Given the description of an element on the screen output the (x, y) to click on. 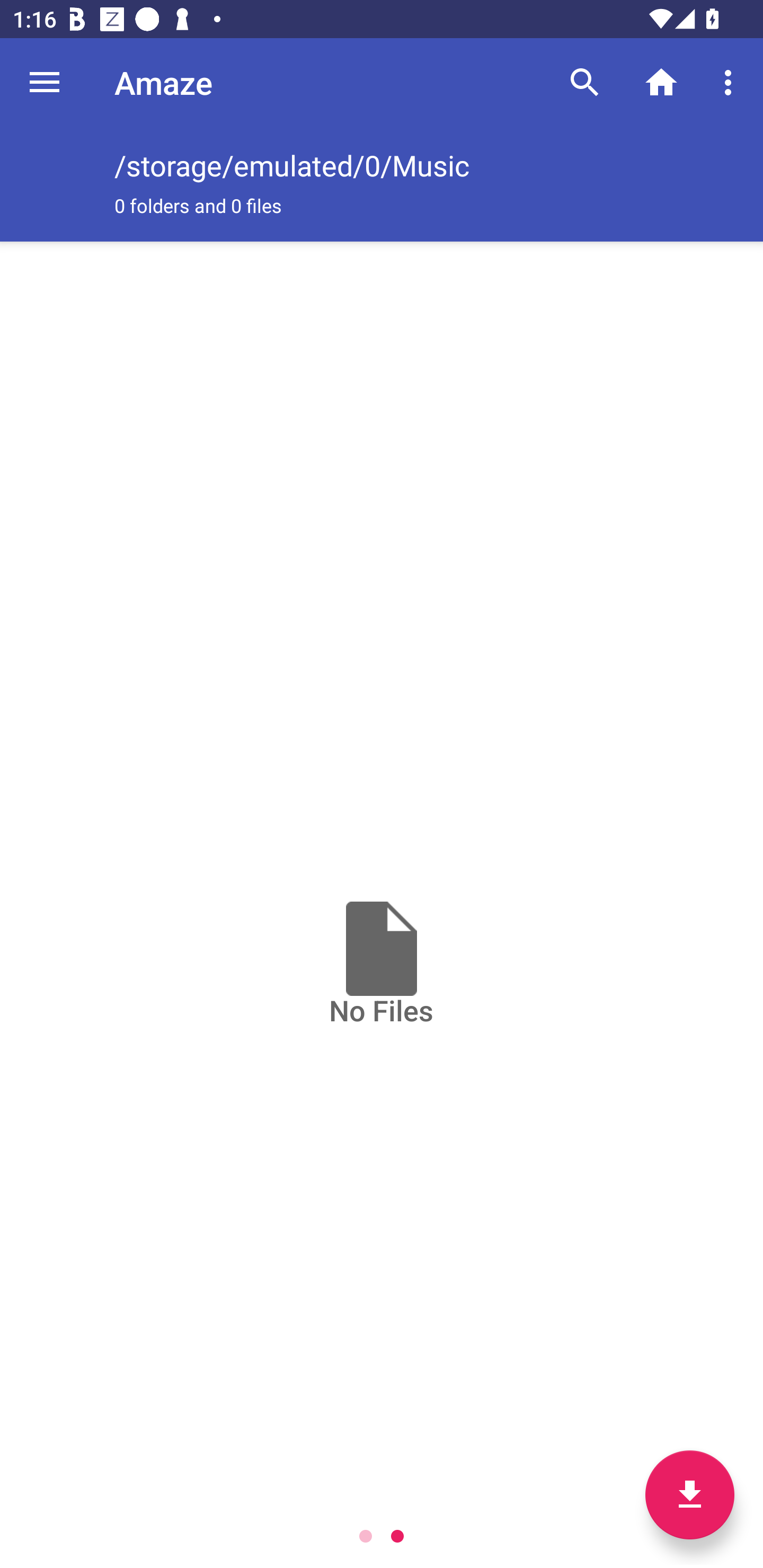
Navigate up (44, 82)
Search (585, 81)
Home (661, 81)
More options (731, 81)
